Given the description of an element on the screen output the (x, y) to click on. 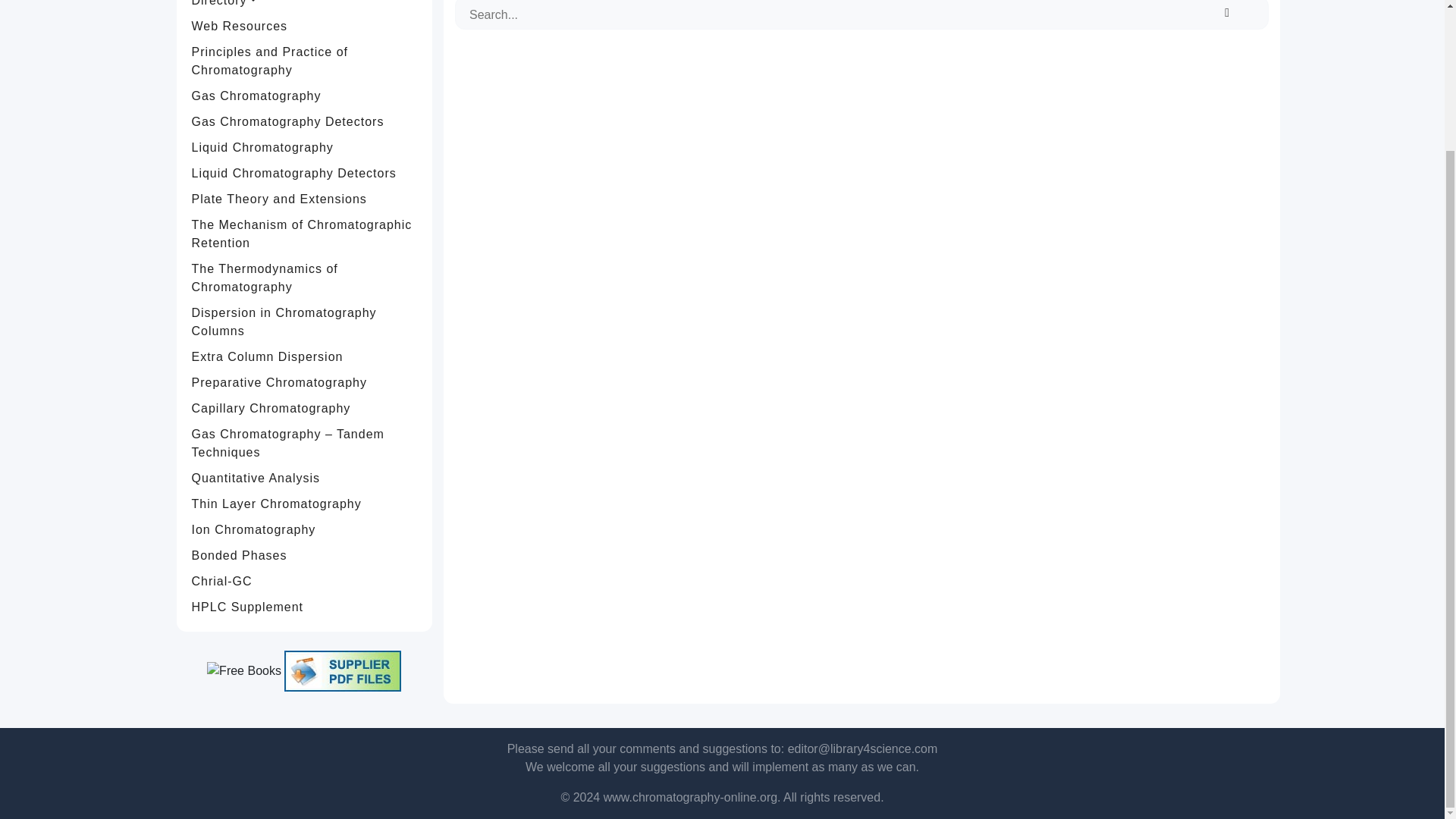
The Mechanism of Chromatographic Retention (304, 234)
Free Books (243, 670)
Free Brochures (342, 670)
Quantitative Analysis (304, 478)
Directory (304, 6)
Gas Chromatography (304, 95)
Principles and Practice of Chromatography (304, 61)
Chrial-GC (304, 581)
Web Resources (304, 26)
Gas Chromatography Detectors (304, 121)
